Given the description of an element on the screen output the (x, y) to click on. 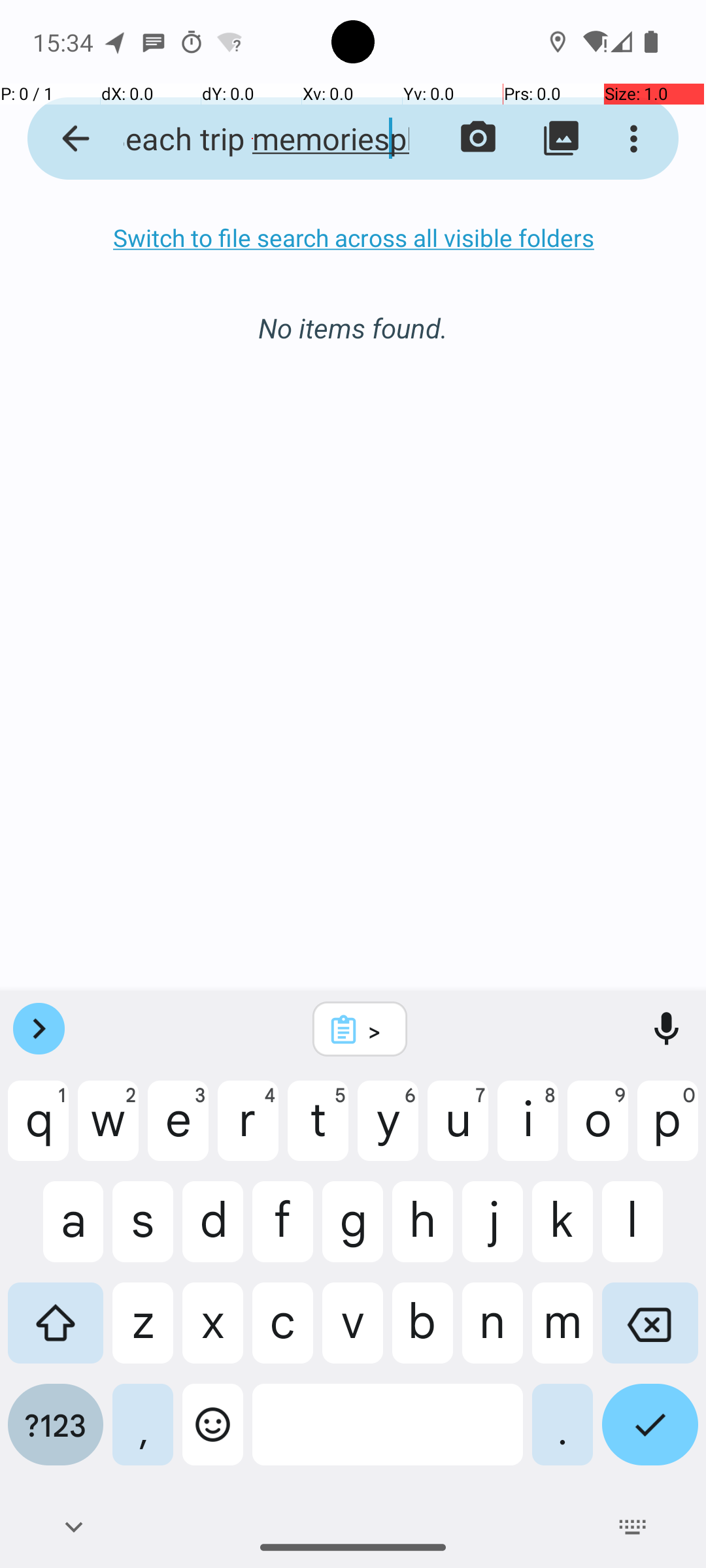
Switch to file search across all visible folders Element type: android.widget.TextView (353, 237)
Vacation Beach trip memoriesphotos Element type: android.widget.EditText (252, 138)
>  Element type: android.widget.TextView (377, 1029)
